Given the description of an element on the screen output the (x, y) to click on. 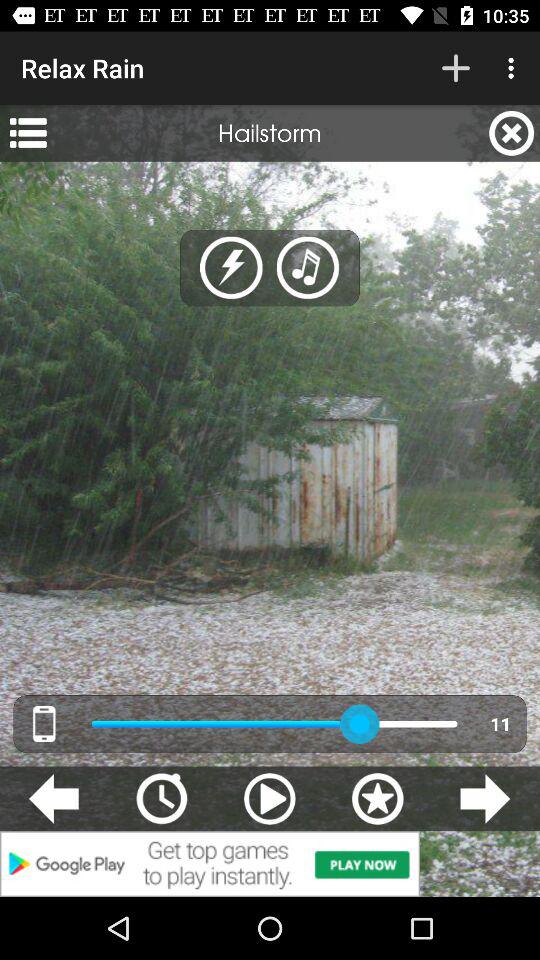
choose the icon next to hailstorm app (511, 133)
